Given the description of an element on the screen output the (x, y) to click on. 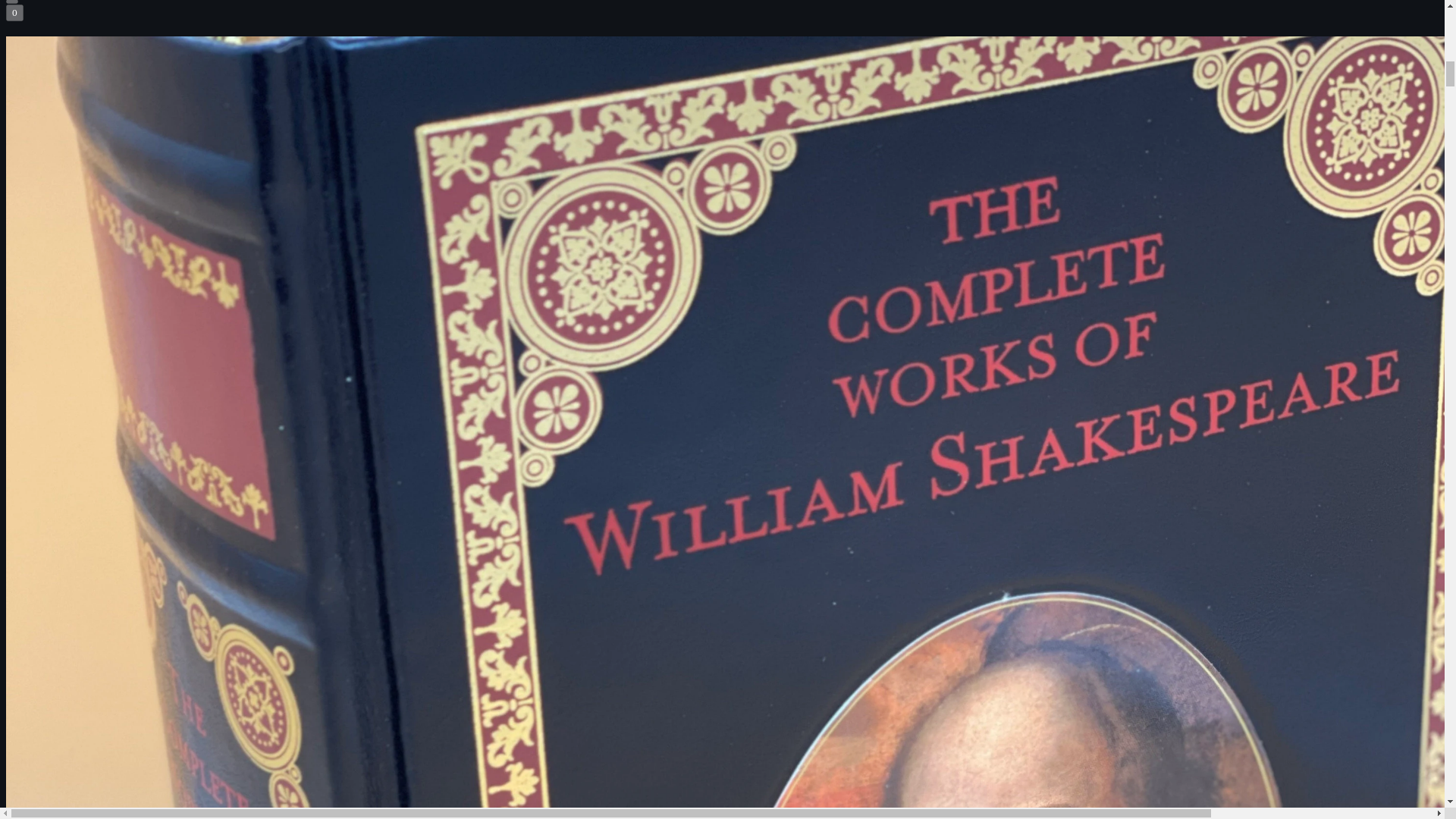
0 (14, 12)
